Given the description of an element on the screen output the (x, y) to click on. 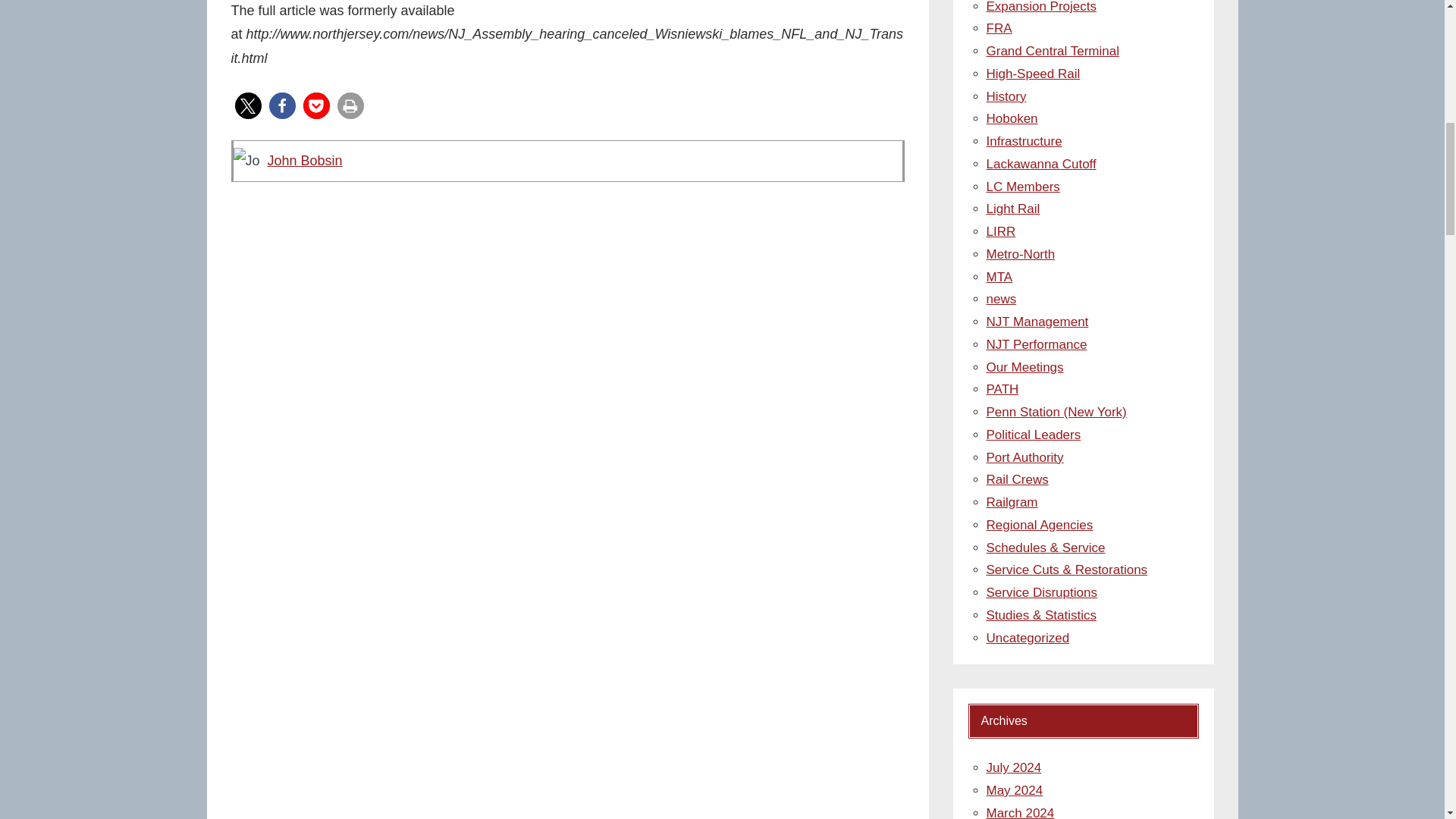
John Bobsin (304, 160)
